Given the description of an element on the screen output the (x, y) to click on. 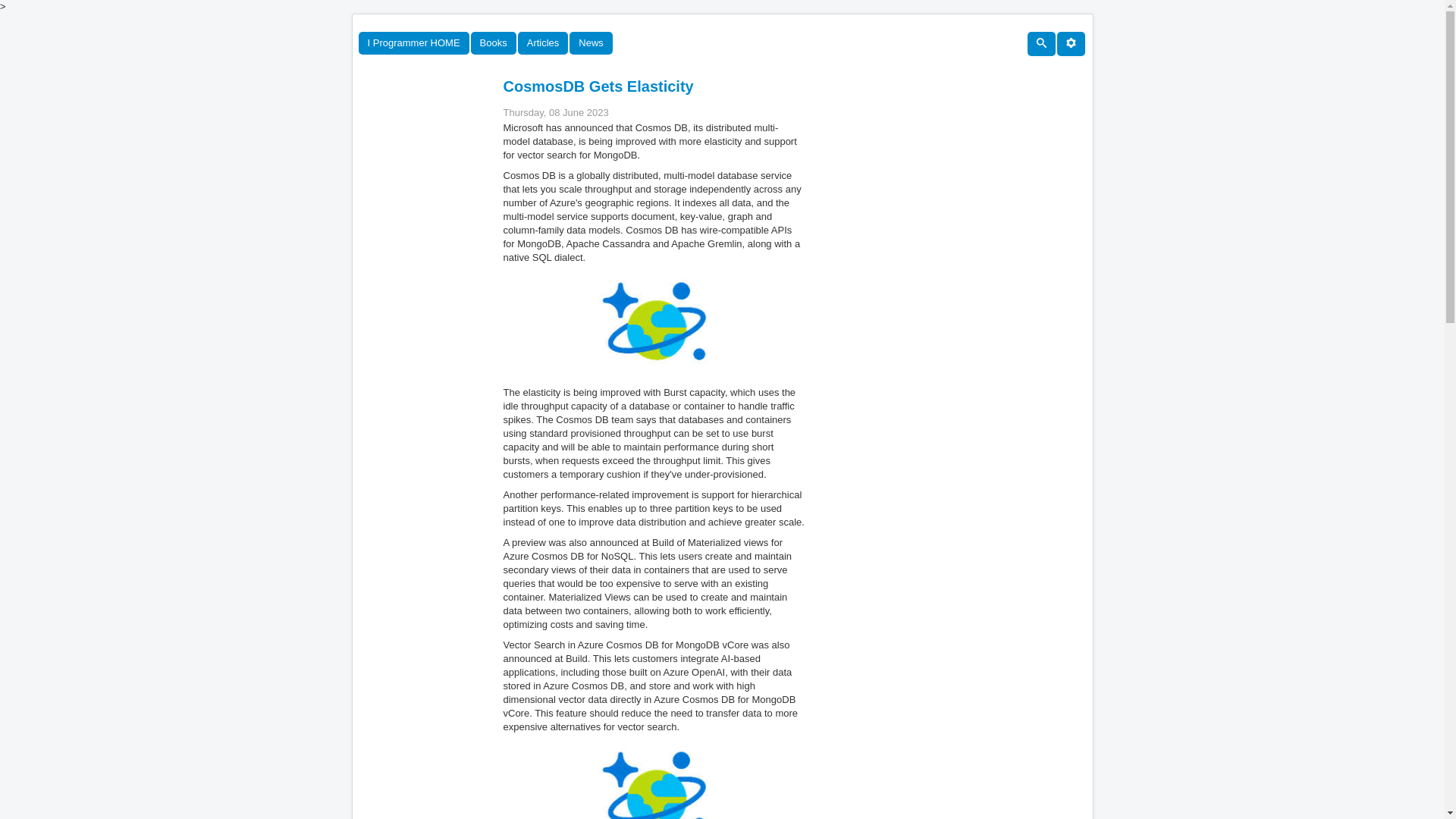
Books (493, 42)
I Programmer HOME (413, 42)
Articles (543, 42)
